Given the description of an element on the screen output the (x, y) to click on. 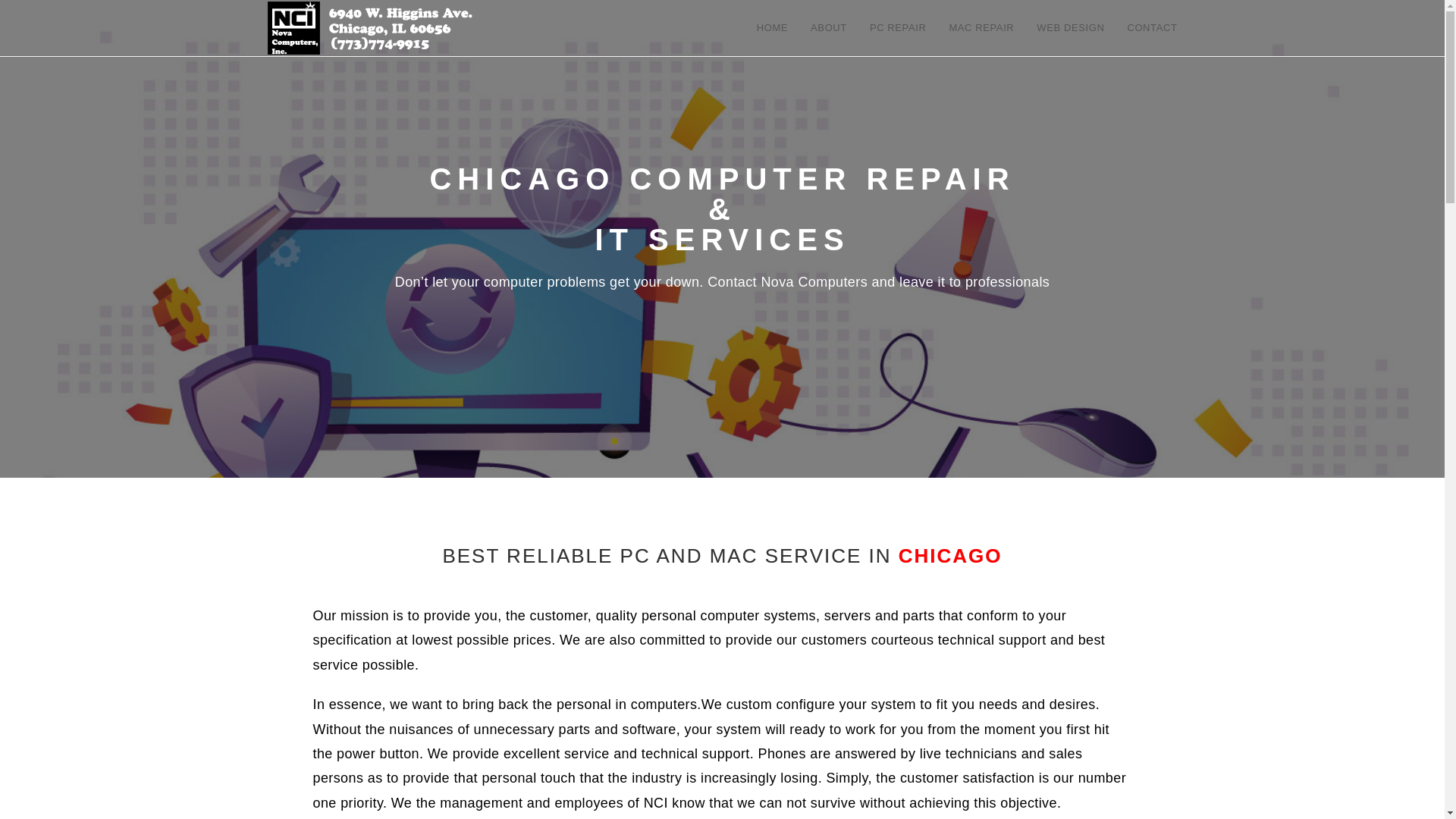
ABOUT (829, 28)
PC REPAIR (898, 28)
HOME (772, 28)
MAC REPAIR (981, 28)
WEB DESIGN (1070, 28)
CONTACT (1151, 28)
